Given the description of an element on the screen output the (x, y) to click on. 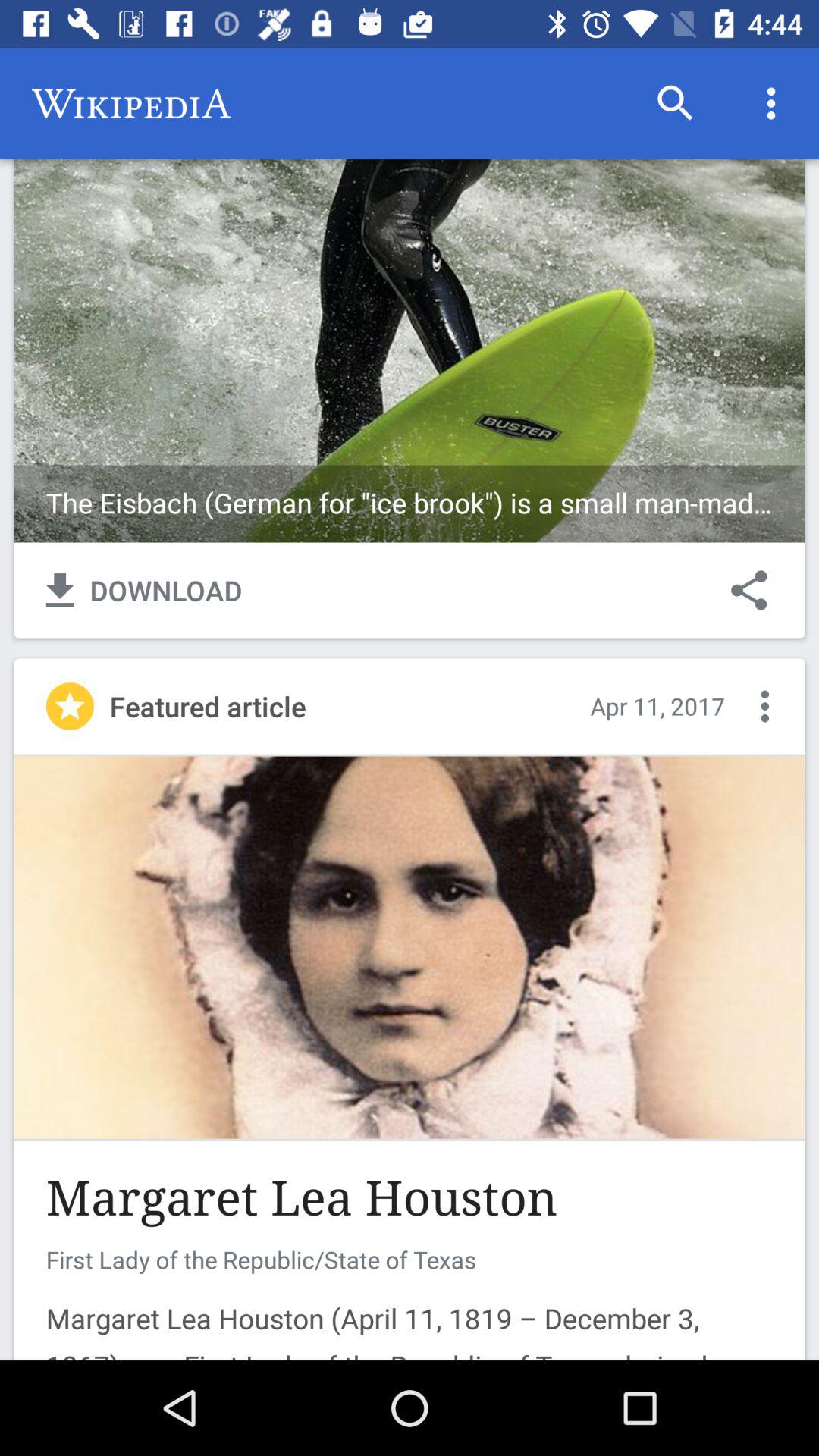
turn off icon next to download item (748, 590)
